Given the description of an element on the screen output the (x, y) to click on. 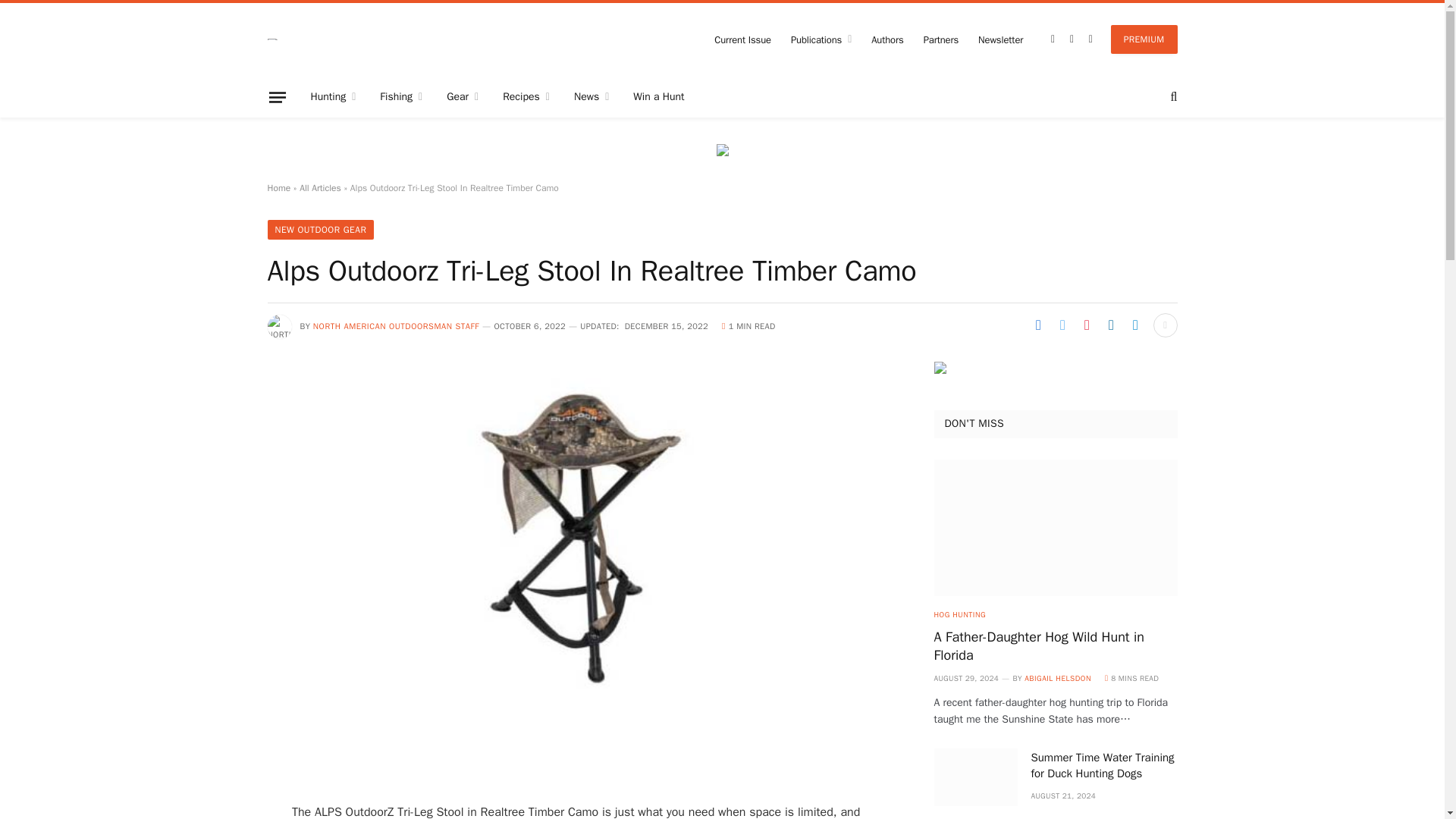
Share on Facebook (1037, 324)
PREMIUM (1143, 39)
Posts by North American Outdoorsman Staff (396, 326)
Current Issue (742, 39)
Fishing (400, 96)
Share on Pinterest (1086, 324)
Share on LinkedIn (1110, 324)
Hunting (333, 96)
Share on Telegram (1135, 324)
Publications (820, 39)
